Given the description of an element on the screen output the (x, y) to click on. 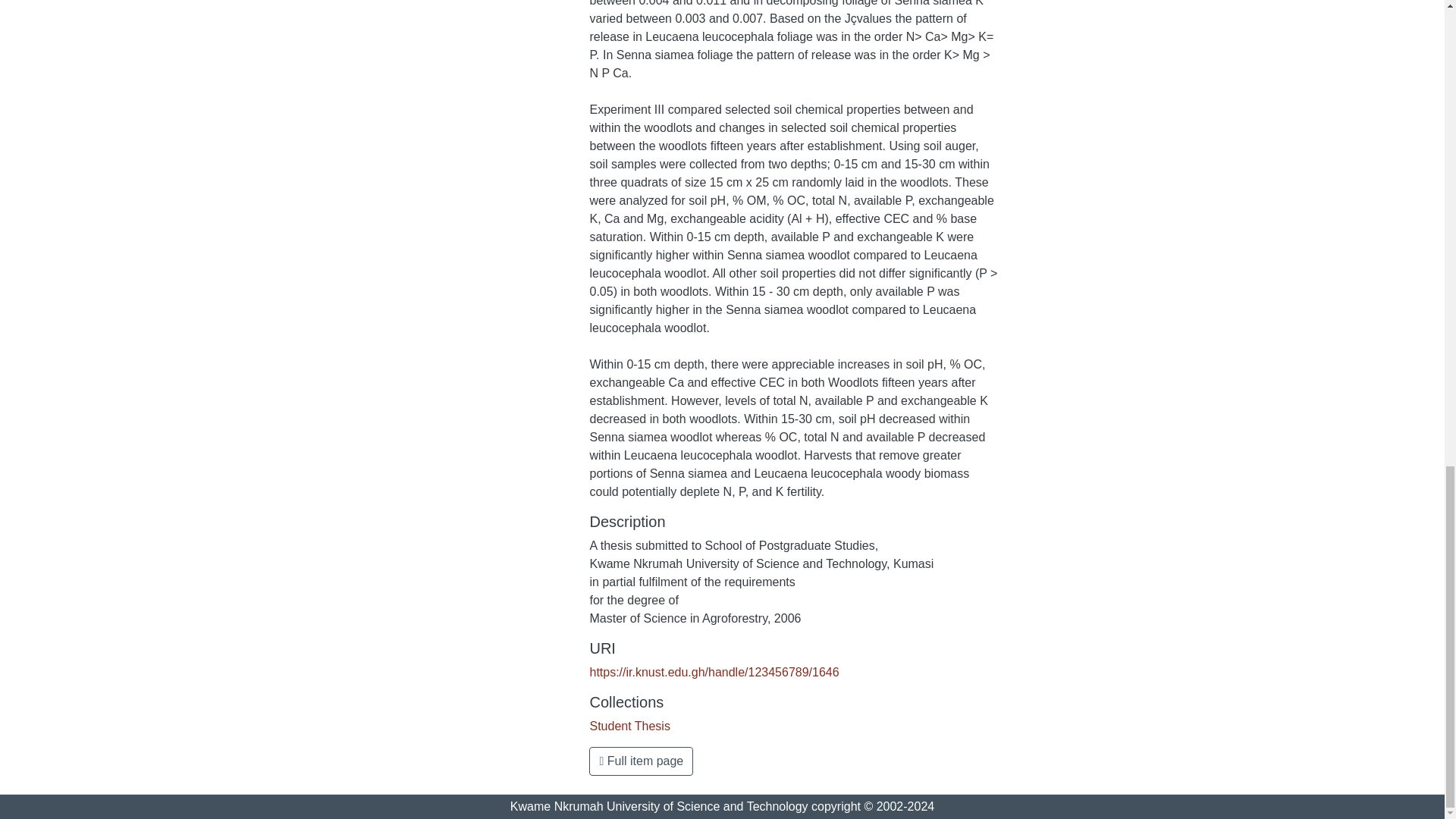
Student Thesis (629, 725)
Kwame Nkrumah University of Science and Technology (659, 806)
Full item page (641, 760)
